Given the description of an element on the screen output the (x, y) to click on. 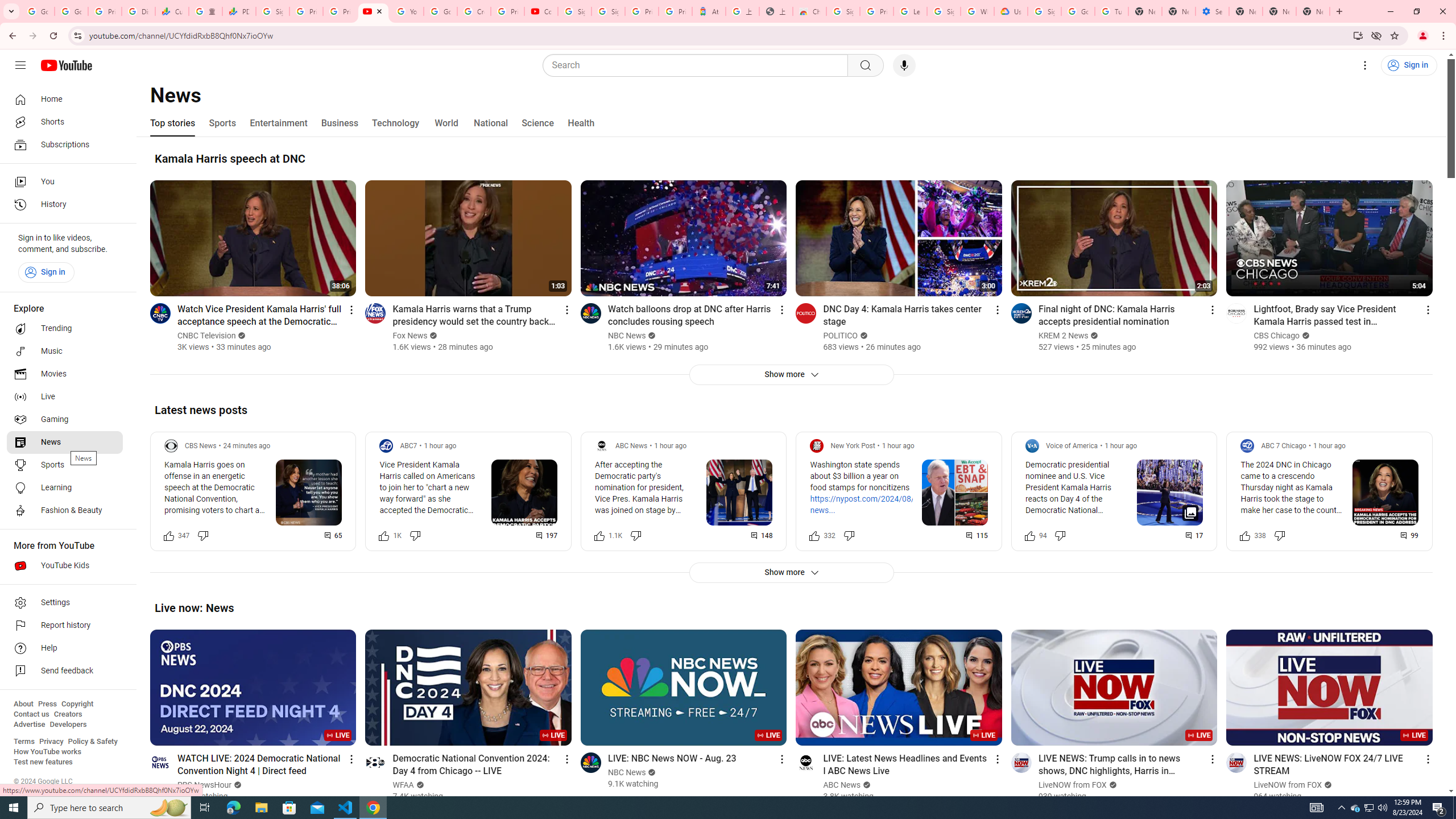
Go to channel (1236, 762)
POLITICO (840, 335)
Terms (23, 741)
https://nypost.com/2024/08/21/us-news... (873, 504)
Like this post along with 94 other people (1029, 534)
Google Account Help (1077, 11)
Sign in - Google Accounts (842, 11)
CBS News (200, 445)
24 minutes ago (246, 445)
Test new features (42, 761)
Turn cookies on or off - Computer - Google Account Help (1111, 11)
Settings - Addresses and more (1212, 11)
